Given the description of an element on the screen output the (x, y) to click on. 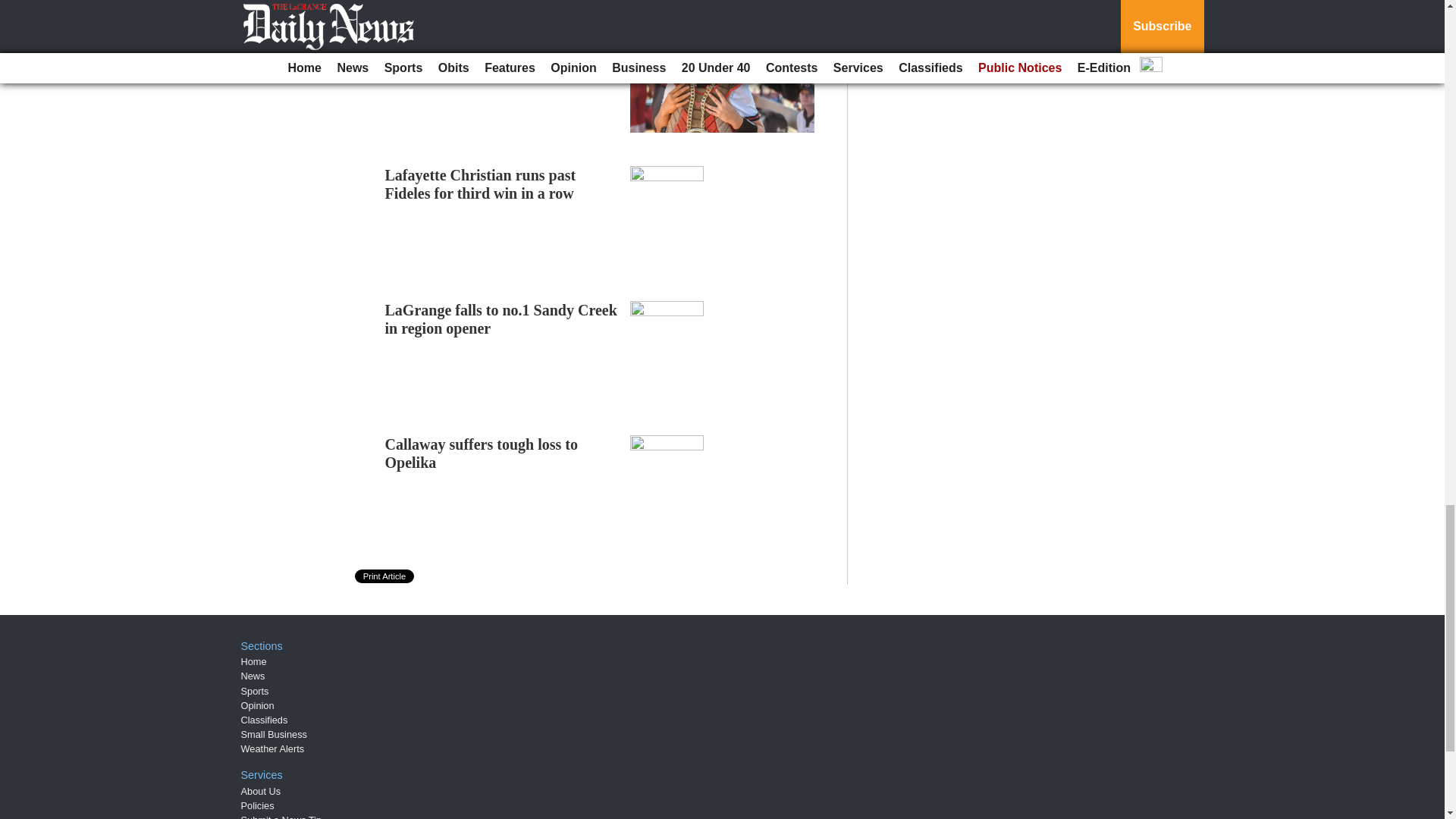
LaGrange falls to no.1 Sandy Creek in region opener (501, 319)
LaGrange falls to no.1 Sandy Creek in region opener (501, 319)
Lafayette Christian runs past Fideles for third win in a row (480, 184)
Callaway suffers tough loss to Opelika (481, 452)
Print Article (384, 576)
Lafayette Christian runs past Fideles for third win in a row (480, 184)
Callaway suffers tough loss to Opelika (481, 452)
